Given the description of an element on the screen output the (x, y) to click on. 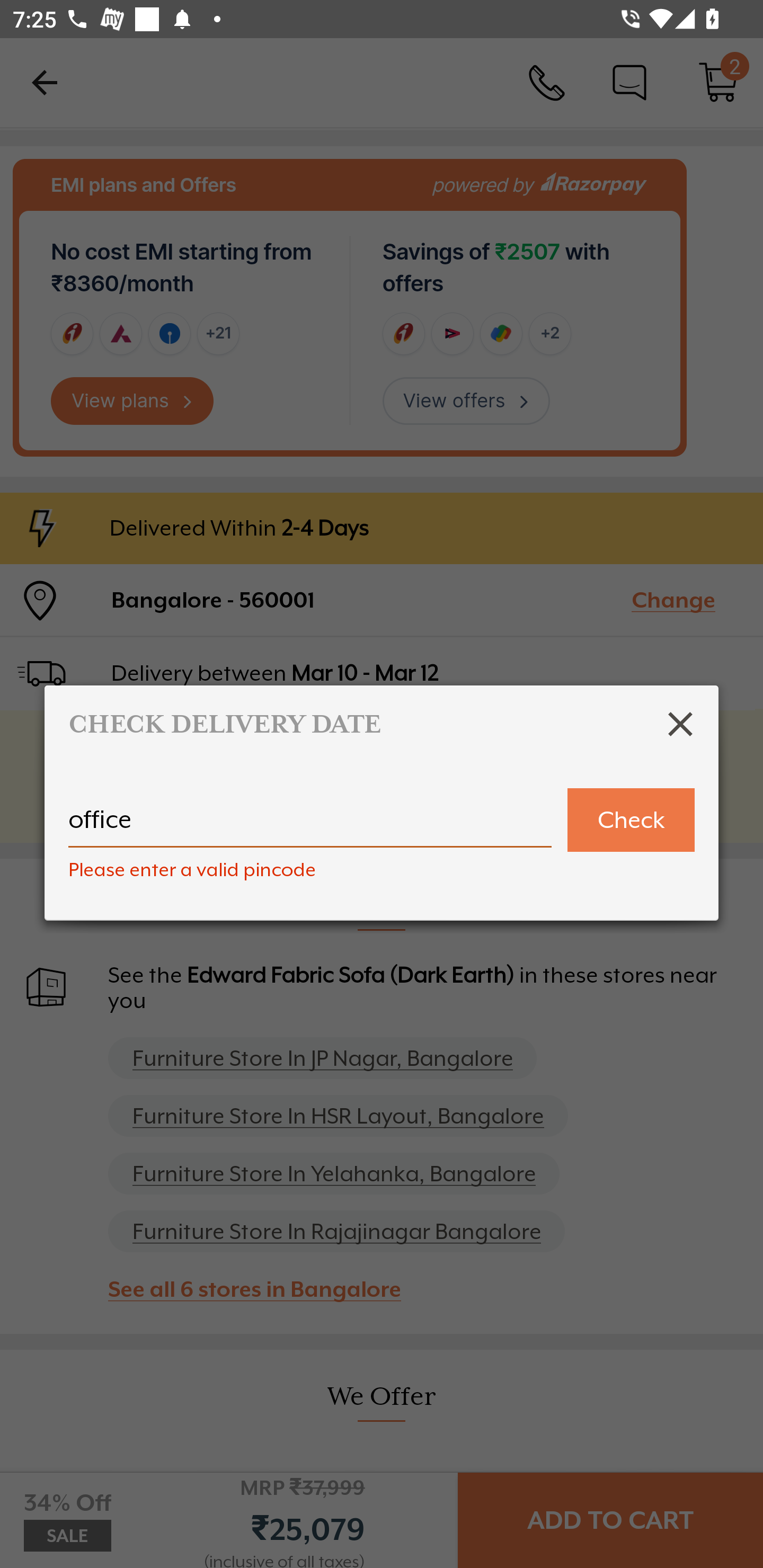
 (680, 723)
Check (630, 819)
office (309, 827)
